Given the description of an element on the screen output the (x, y) to click on. 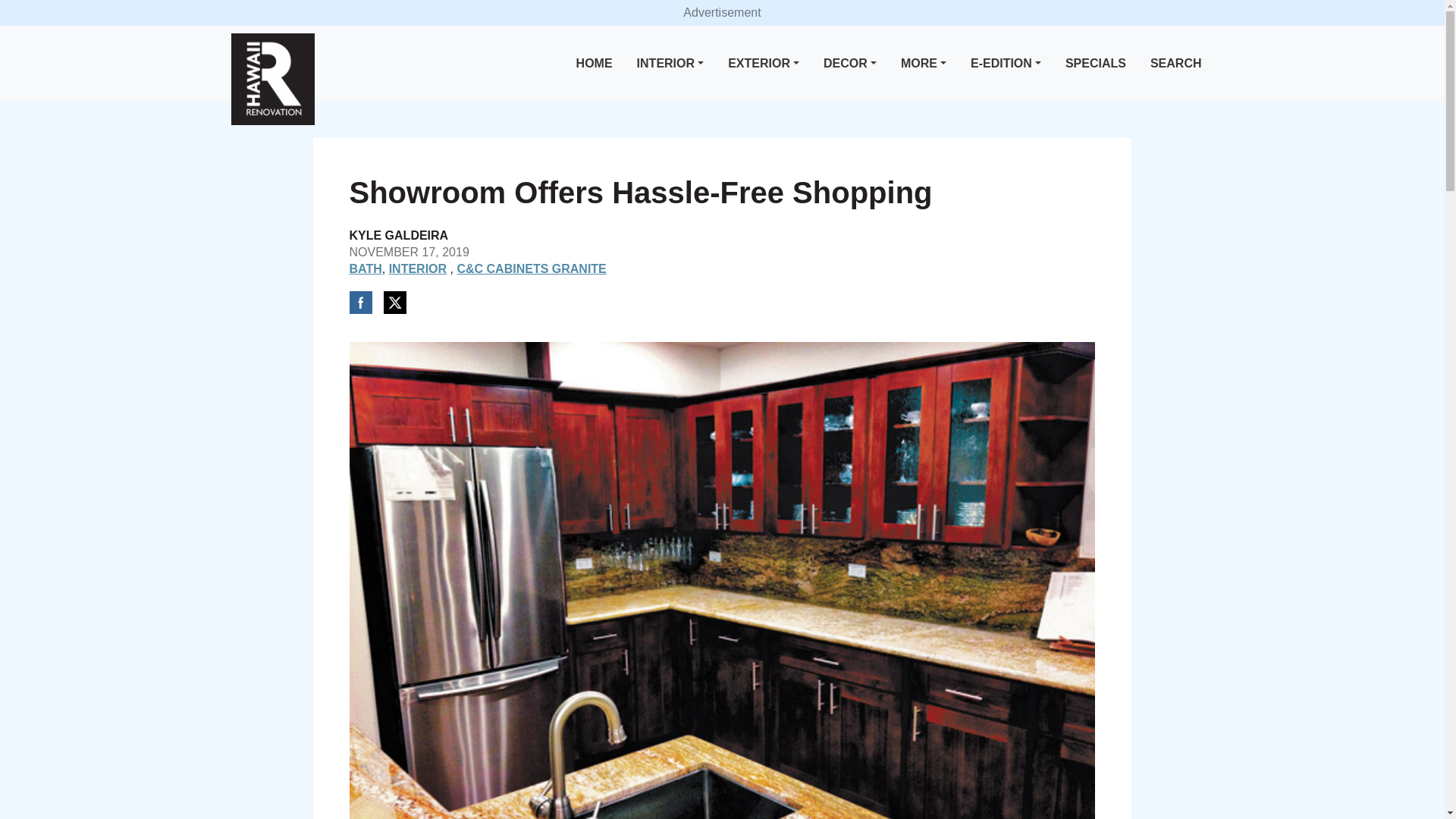
Hawaii Renovation (272, 79)
SPECIALS (1095, 63)
BATH (365, 268)
DECOR (849, 63)
E-EDITION (1004, 63)
INTERIOR (670, 63)
SEARCH (1176, 63)
EXTERIOR (763, 63)
Facebook (360, 302)
HOME (594, 63)
